Given the description of an element on the screen output the (x, y) to click on. 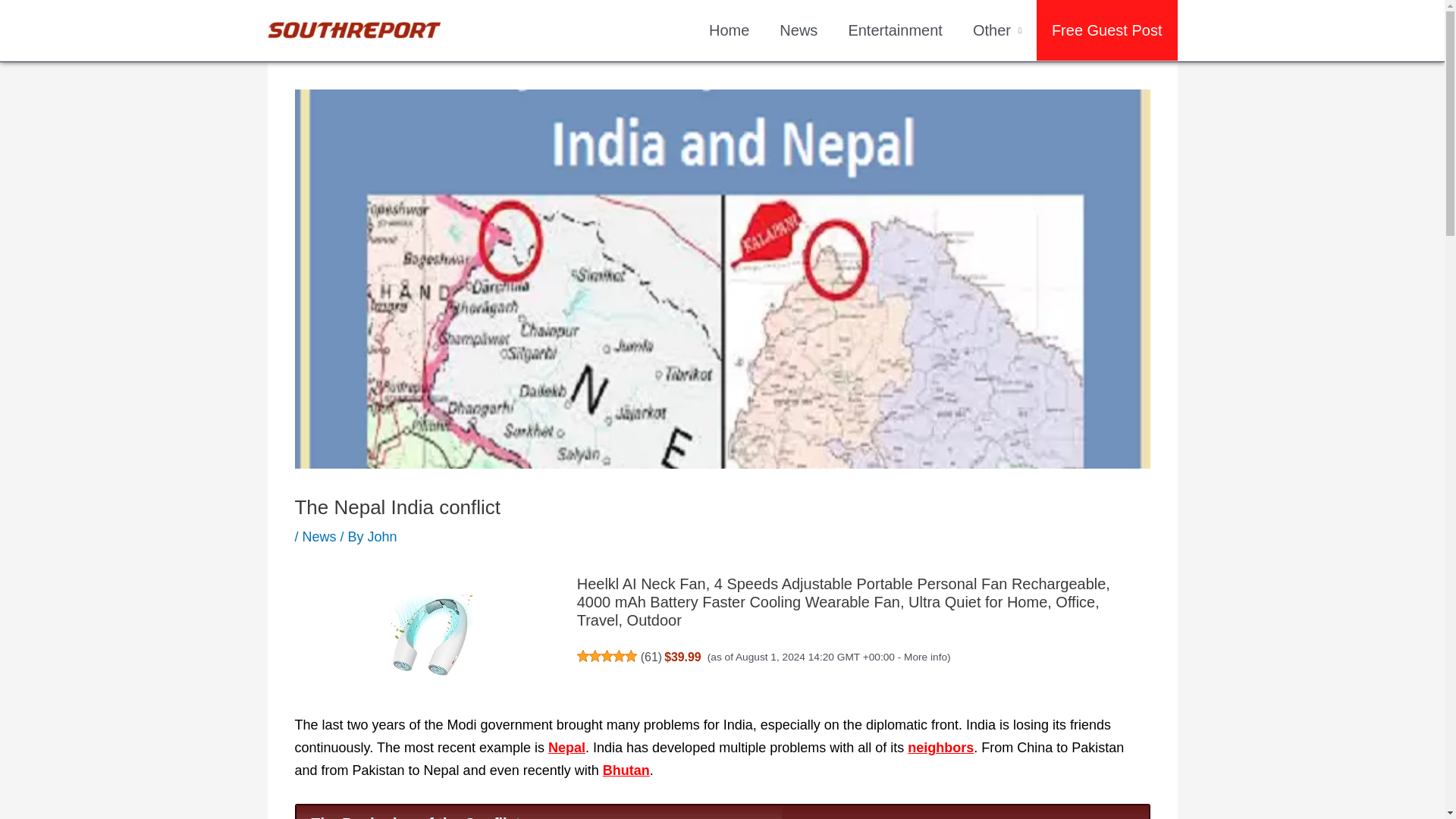
John (382, 536)
Entertainment (895, 30)
Nepal (566, 747)
neighbors (940, 747)
Bhutan (625, 770)
News (798, 30)
News (319, 536)
Free Guest Post (1106, 30)
